Given the description of an element on the screen output the (x, y) to click on. 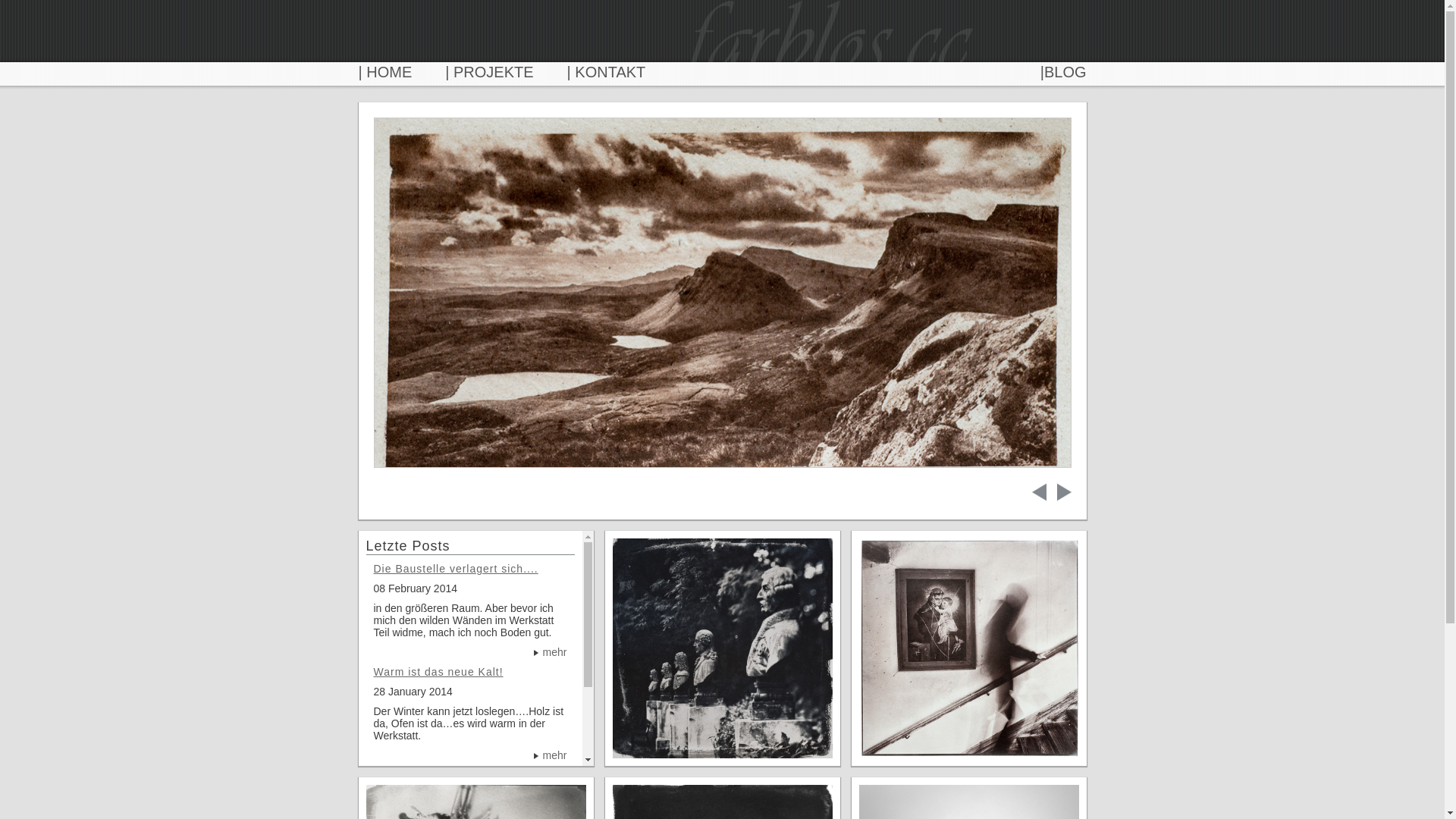
| PROJEKTE Element type: text (489, 71)
Warm ist das neue Kalt! Element type: text (437, 671)
| HOME Element type: text (384, 71)
|BLOG Element type: text (1063, 71)
Die Baustelle verlagert sich.... Element type: text (455, 568)
mehr Element type: text (550, 652)
| KONTAKT Element type: text (606, 71)
mehr Element type: text (550, 755)
